Given the description of an element on the screen output the (x, y) to click on. 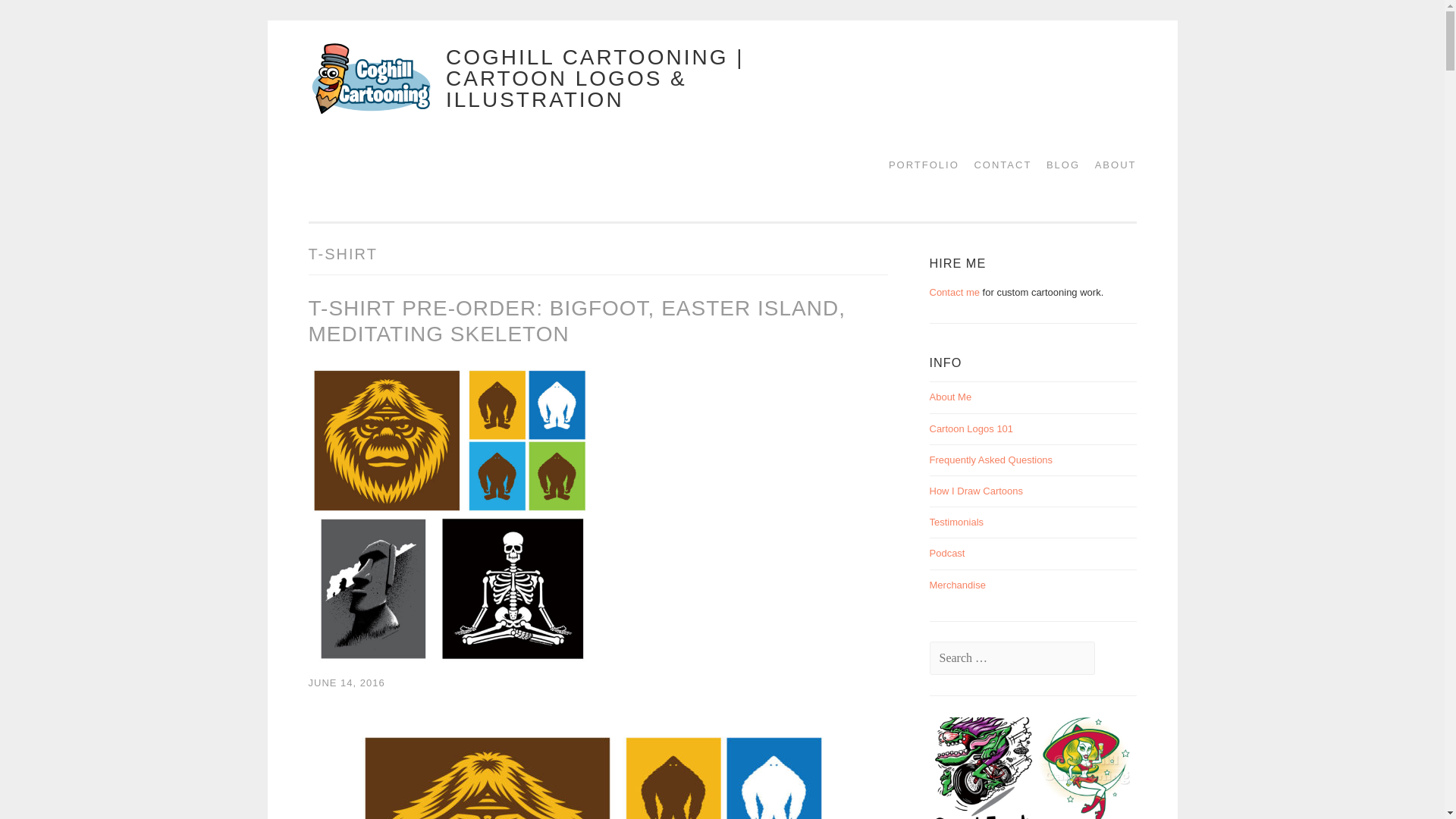
PORTFOLIO (918, 164)
ABOUT (1110, 164)
JUNE 14, 2016 (345, 682)
fat-tire-speed-freak-coghill (982, 768)
witch-girl-in-moon-cartoon-illustration (1085, 768)
CONTACT (996, 164)
BLOG (1057, 164)
